Given the description of an element on the screen output the (x, y) to click on. 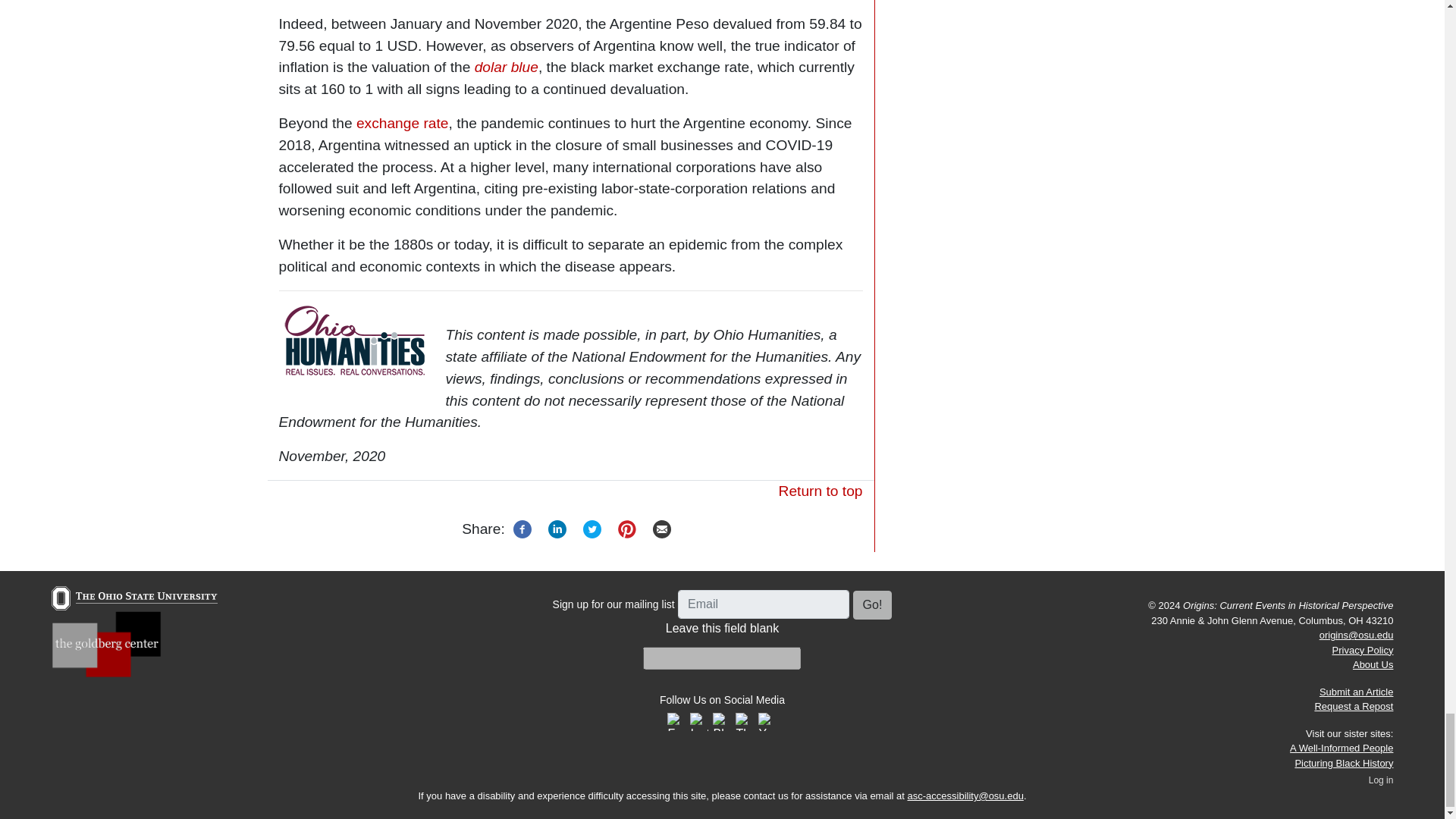
Email (662, 528)
Linkedin (557, 528)
Facebook (522, 528)
Go! (872, 604)
Pinterest (627, 528)
Sunday, November 29, 2020 - 01:52 (332, 455)
Twitter (592, 528)
